Given the description of an element on the screen output the (x, y) to click on. 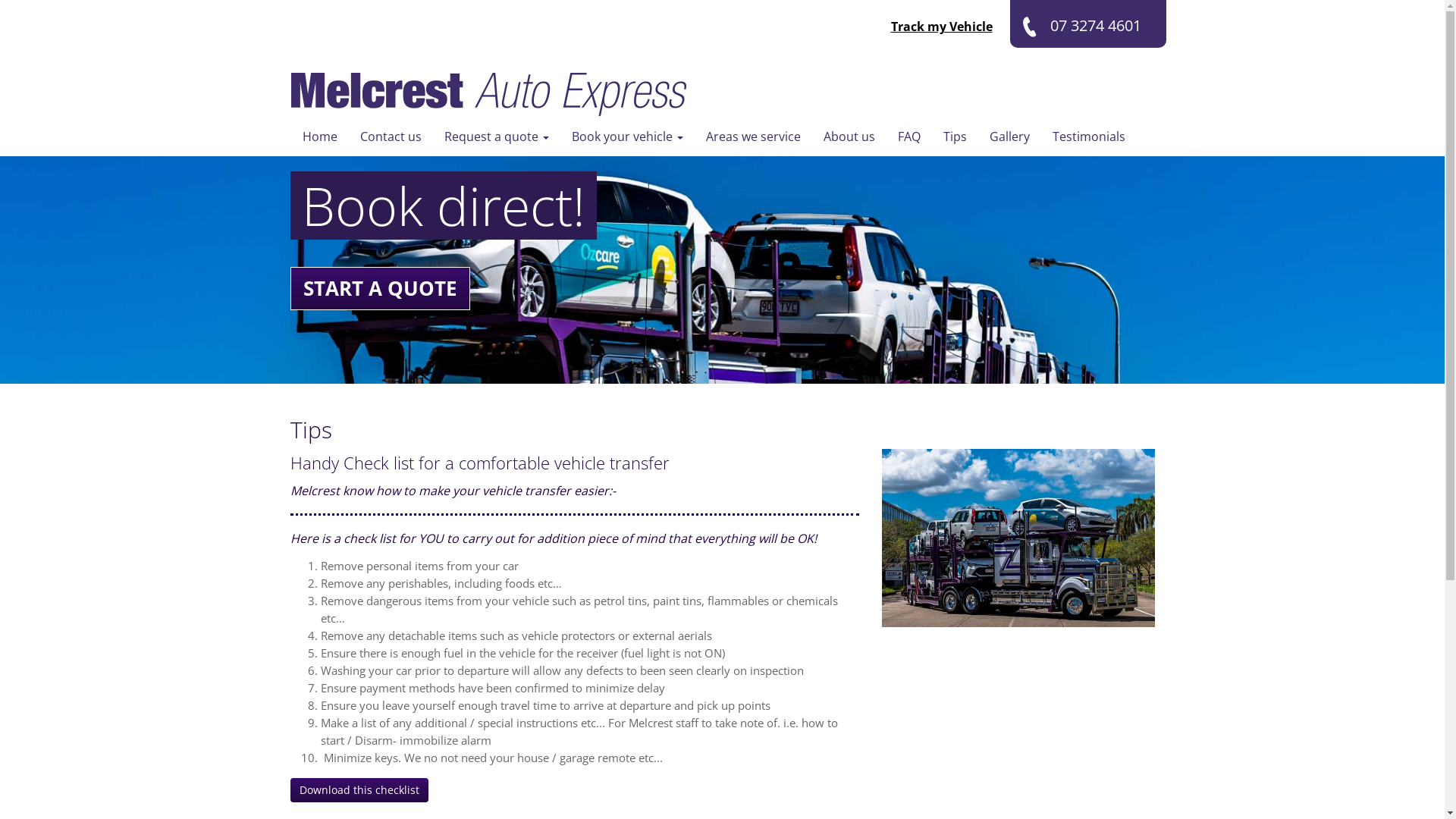
Request a quote Element type: text (495, 136)
Gallery Element type: text (1009, 136)
Testimonials Element type: text (1087, 136)
Tips Element type: text (954, 136)
07 3274 4601 Element type: text (1088, 23)
About us Element type: text (848, 136)
Home Element type: text (319, 136)
FAQ Element type: text (908, 136)
Book your vehicle Element type: text (626, 136)
Contact us Element type: text (390, 136)
START A QUOTE Element type: text (379, 288)
Areas we service Element type: text (753, 136)
Download this checklist Element type: text (358, 790)
Track my Vehicle Element type: text (940, 26)
